Given the description of an element on the screen output the (x, y) to click on. 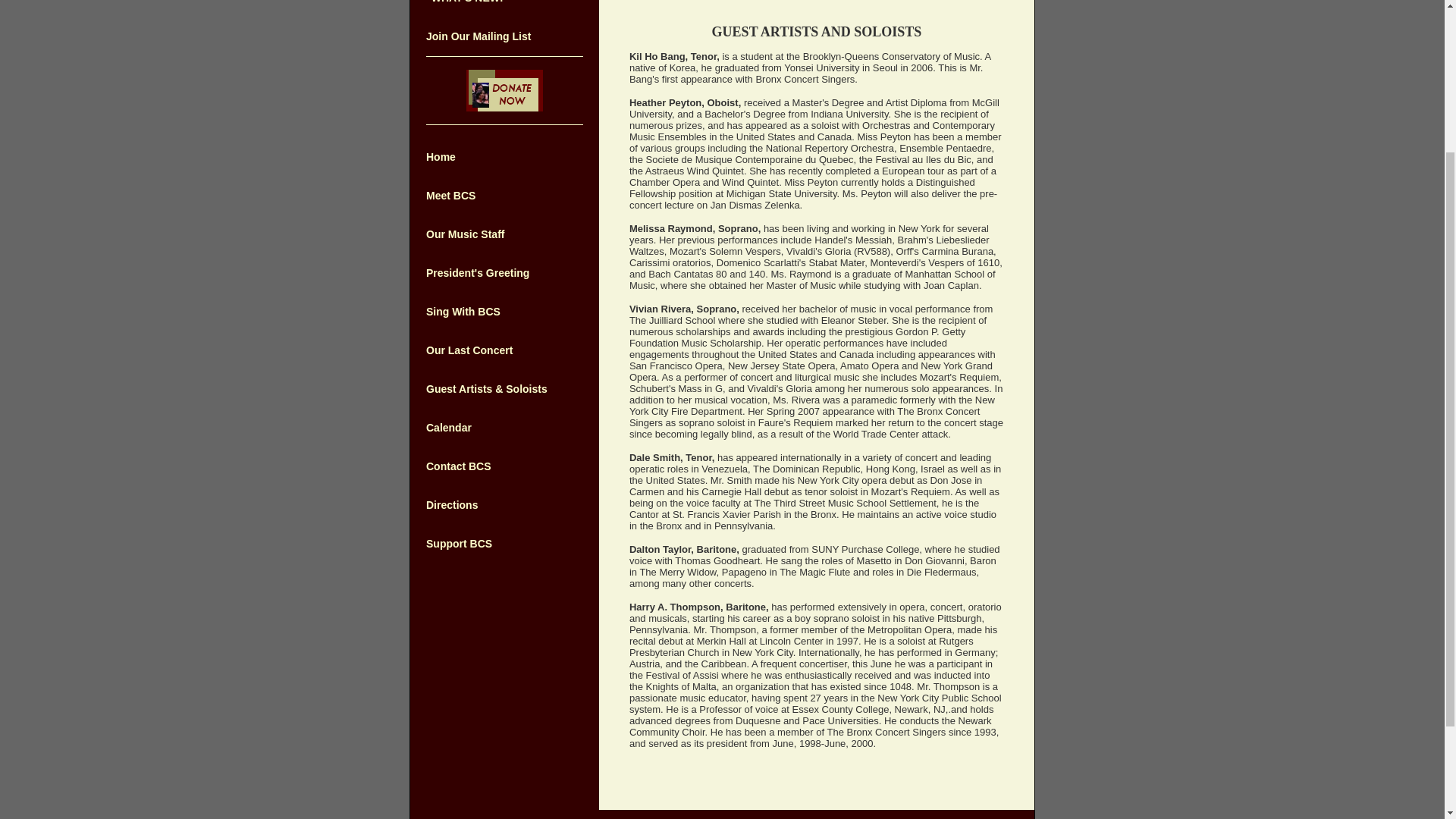
Meet BCS (451, 195)
Our Music Staff (464, 234)
Sing With BCS (463, 311)
Calendar (448, 427)
President's Greeting (477, 272)
Directions (451, 504)
WHAT'S NEW! (466, 2)
Contact BCS (459, 466)
Join Our Mailing List (478, 36)
Support BCS (459, 543)
